Given the description of an element on the screen output the (x, y) to click on. 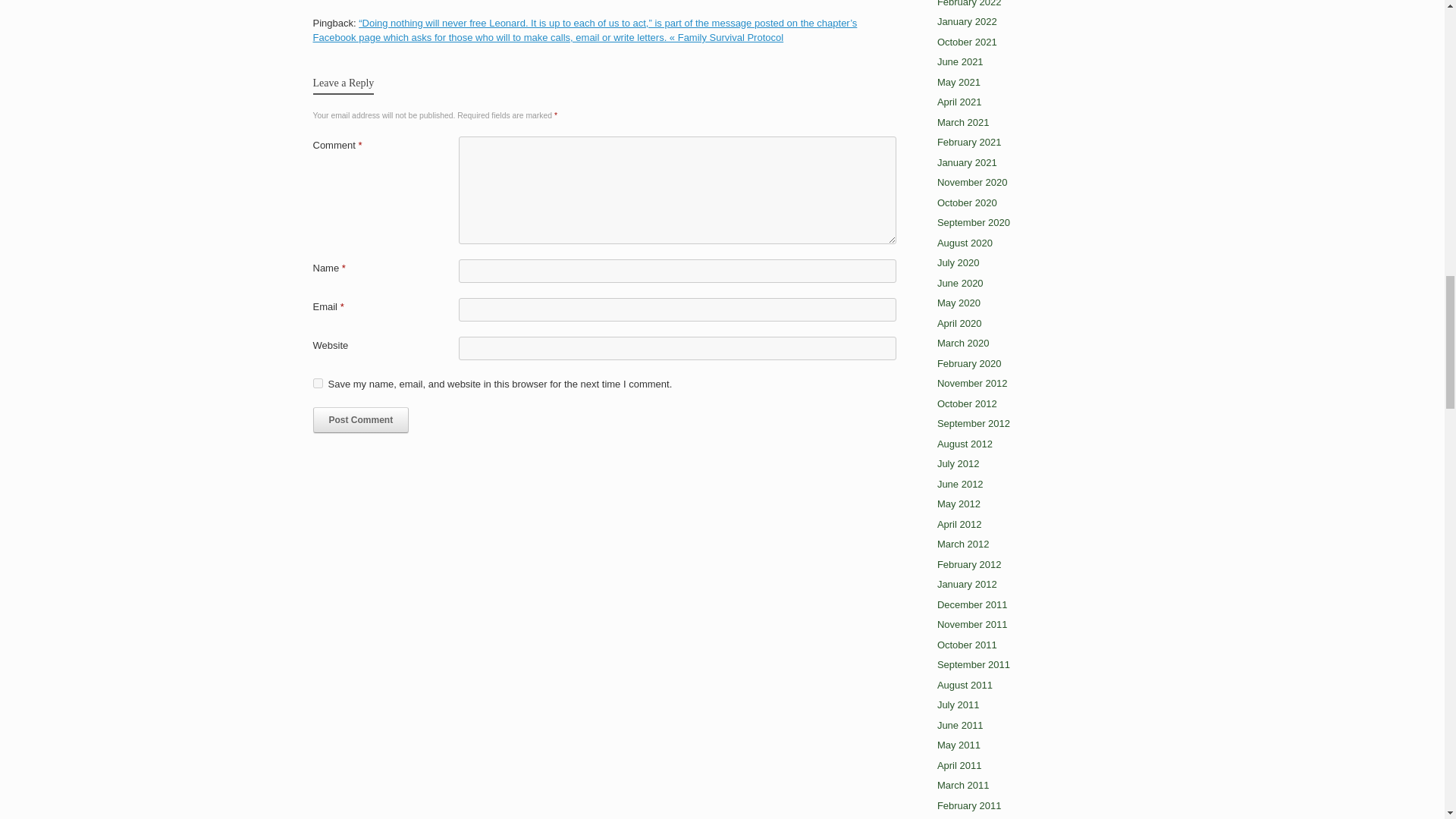
Post Comment (361, 420)
Post Comment (361, 420)
yes (317, 383)
